Given the description of an element on the screen output the (x, y) to click on. 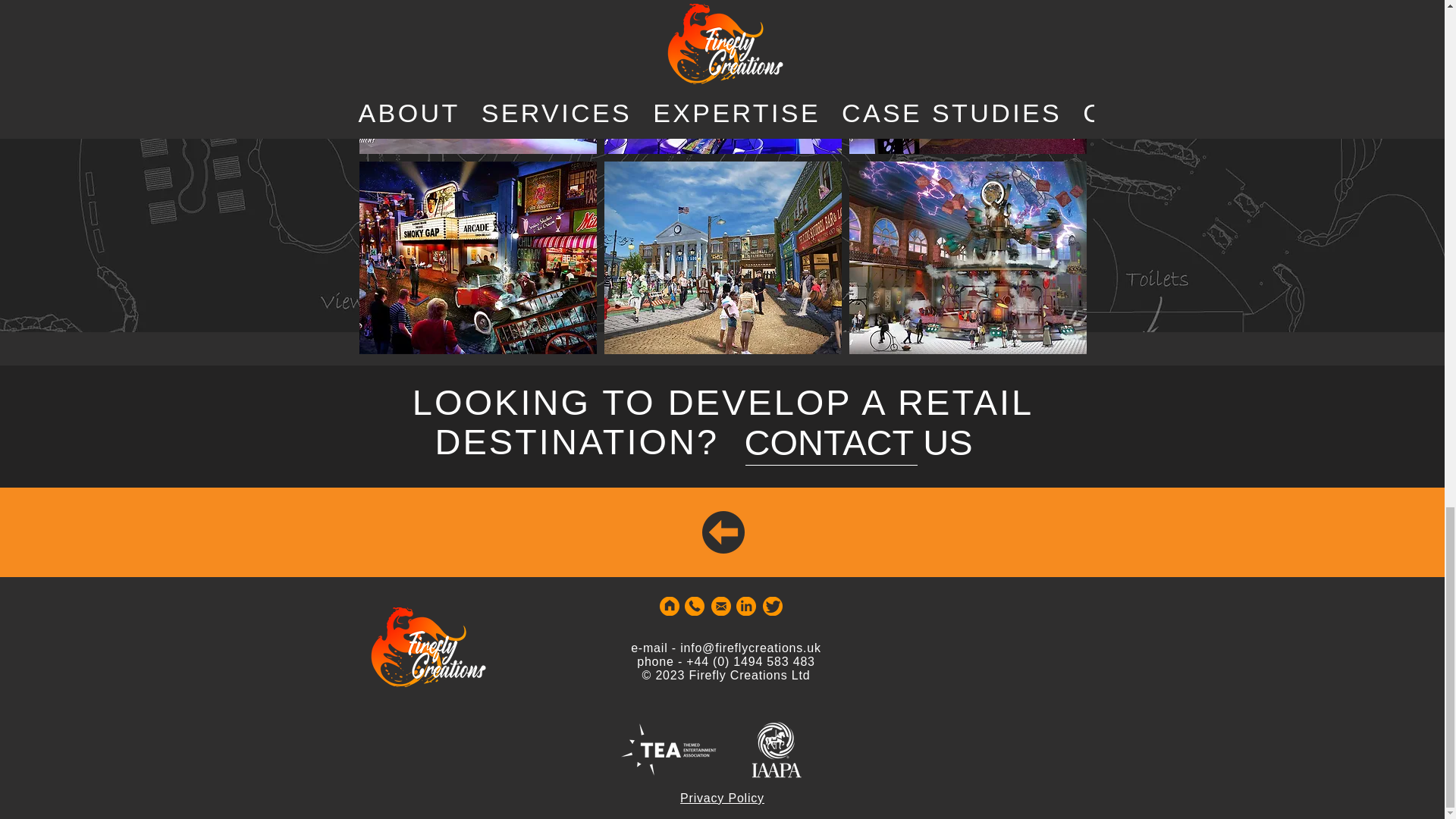
Linkedin profile (745, 606)
Privacy Policy (721, 797)
Email us (720, 606)
CONTACT US (858, 441)
